Given the description of an element on the screen output the (x, y) to click on. 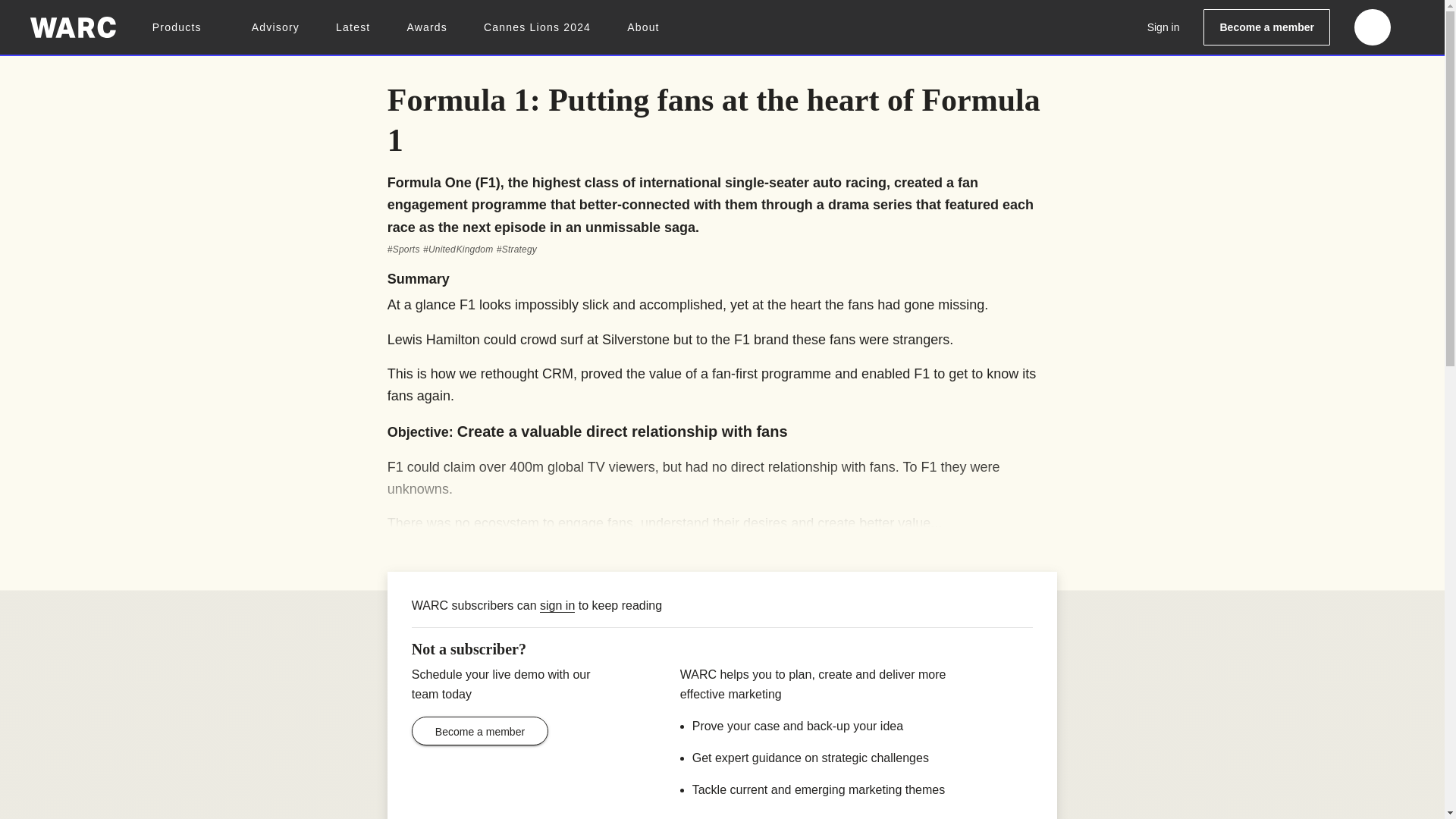
Advisory (275, 27)
Products (183, 27)
Sign in (1163, 27)
About (643, 27)
Sports (403, 249)
Latest (352, 27)
Awards (426, 27)
Become a member (1267, 27)
Cannes Lions 2024 (537, 27)
